Given the description of an element on the screen output the (x, y) to click on. 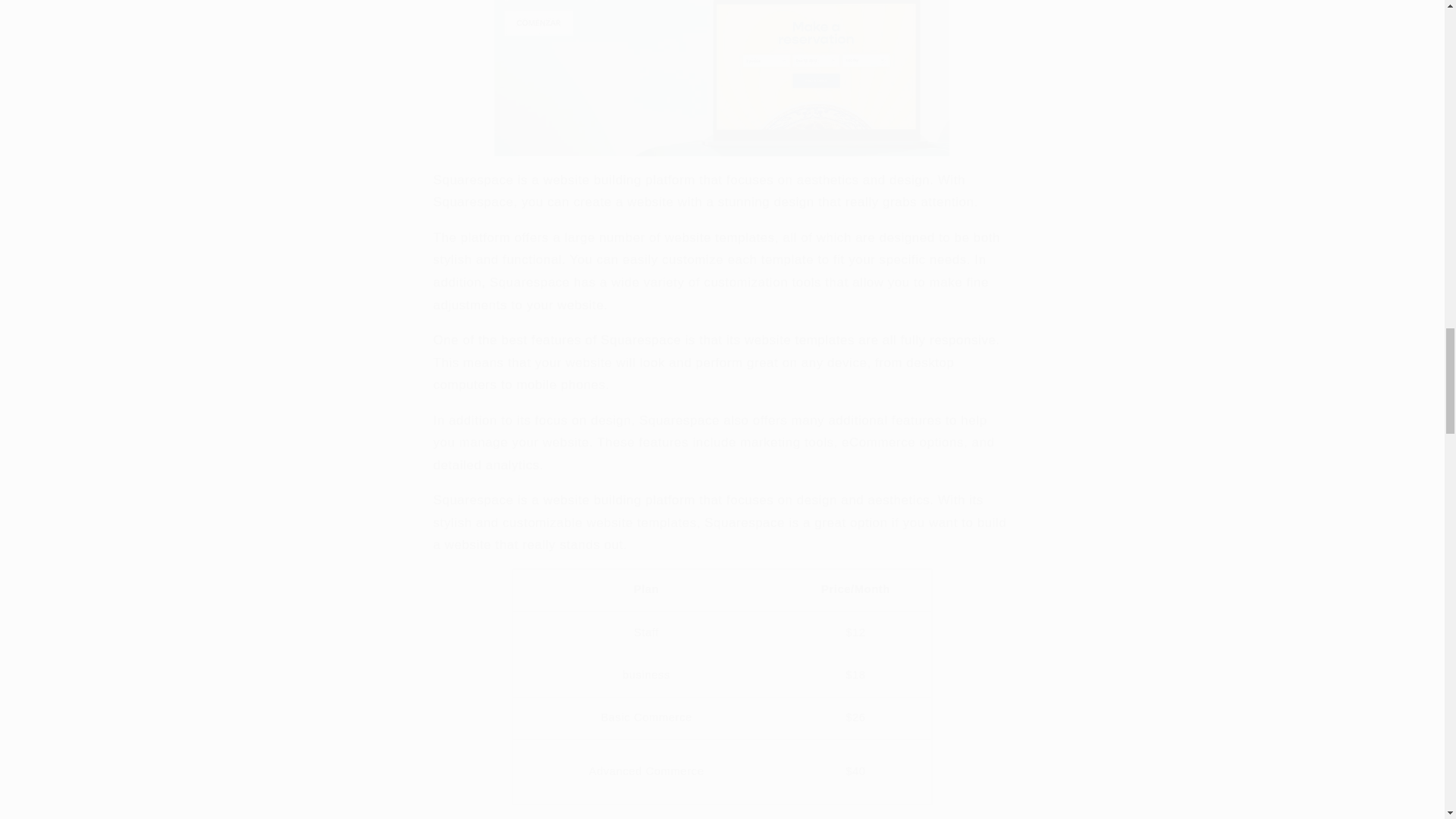
Square (721, 78)
